Given the description of an element on the screen output the (x, y) to click on. 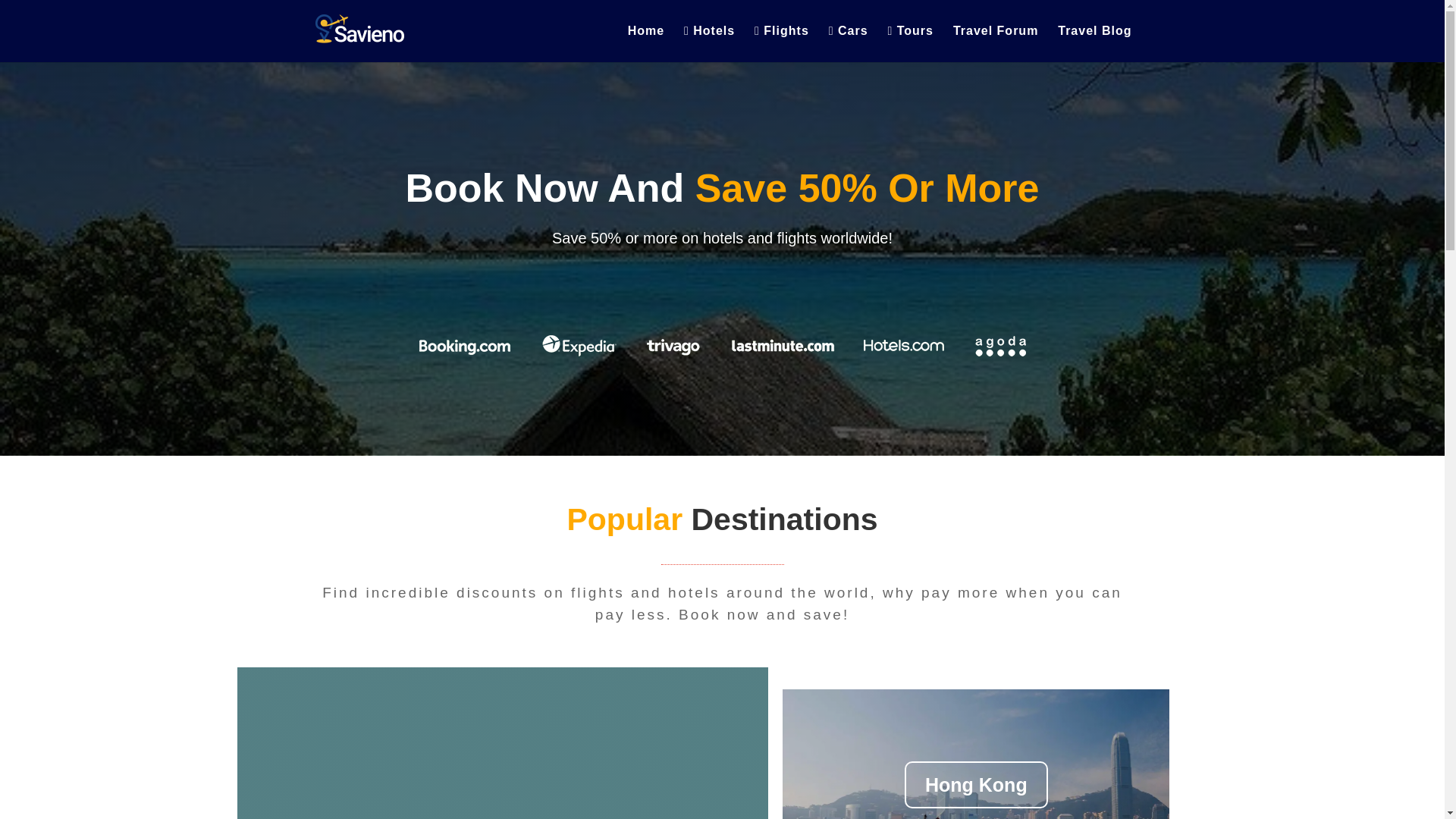
Home (44, 66)
Contact (49, 93)
About (45, 80)
